Given the description of an element on the screen output the (x, y) to click on. 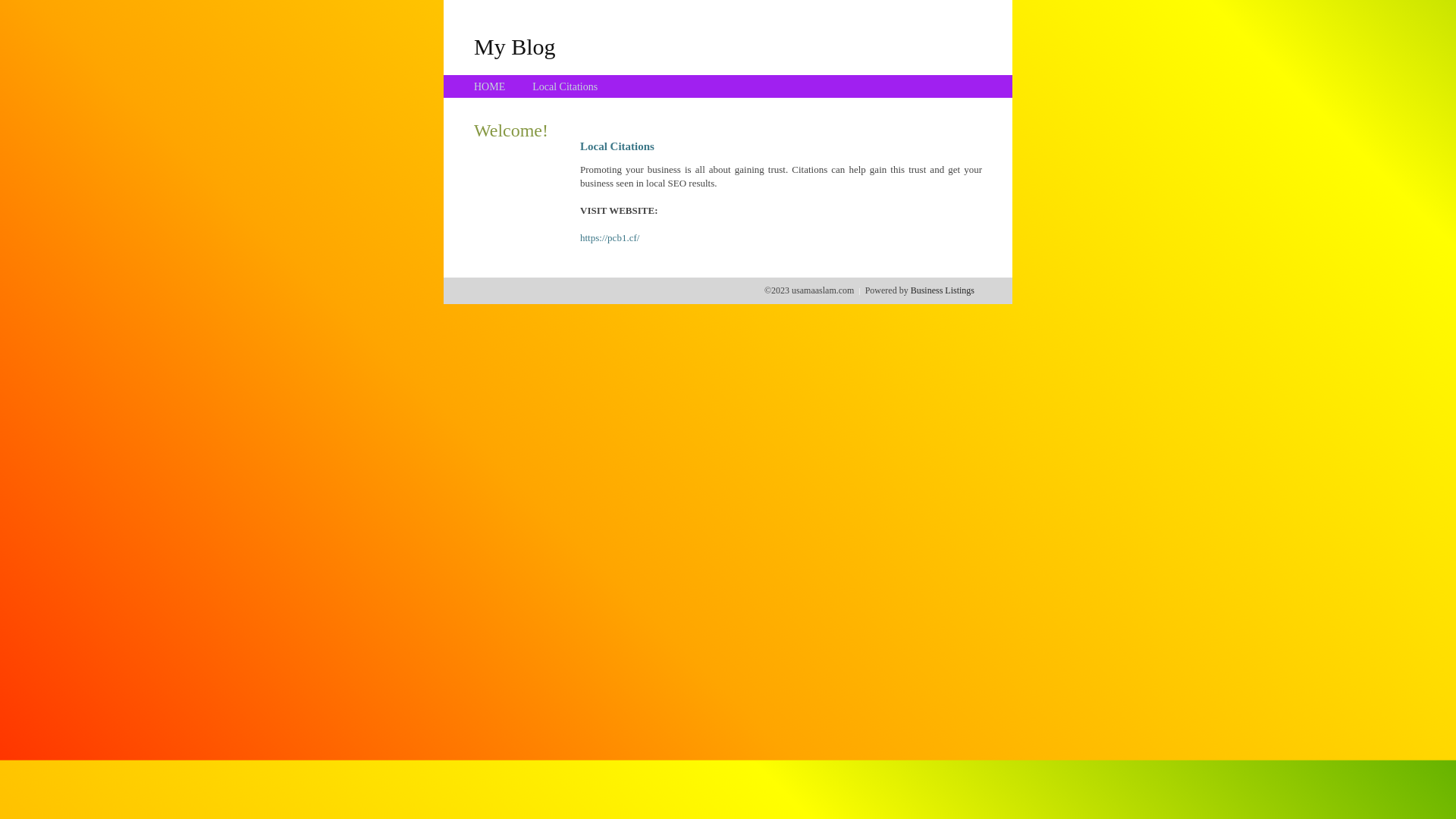
HOME Element type: text (489, 86)
My Blog Element type: text (514, 46)
https://pcb1.cf/ Element type: text (609, 237)
Local Citations Element type: text (564, 86)
Business Listings Element type: text (942, 290)
